Given the description of an element on the screen output the (x, y) to click on. 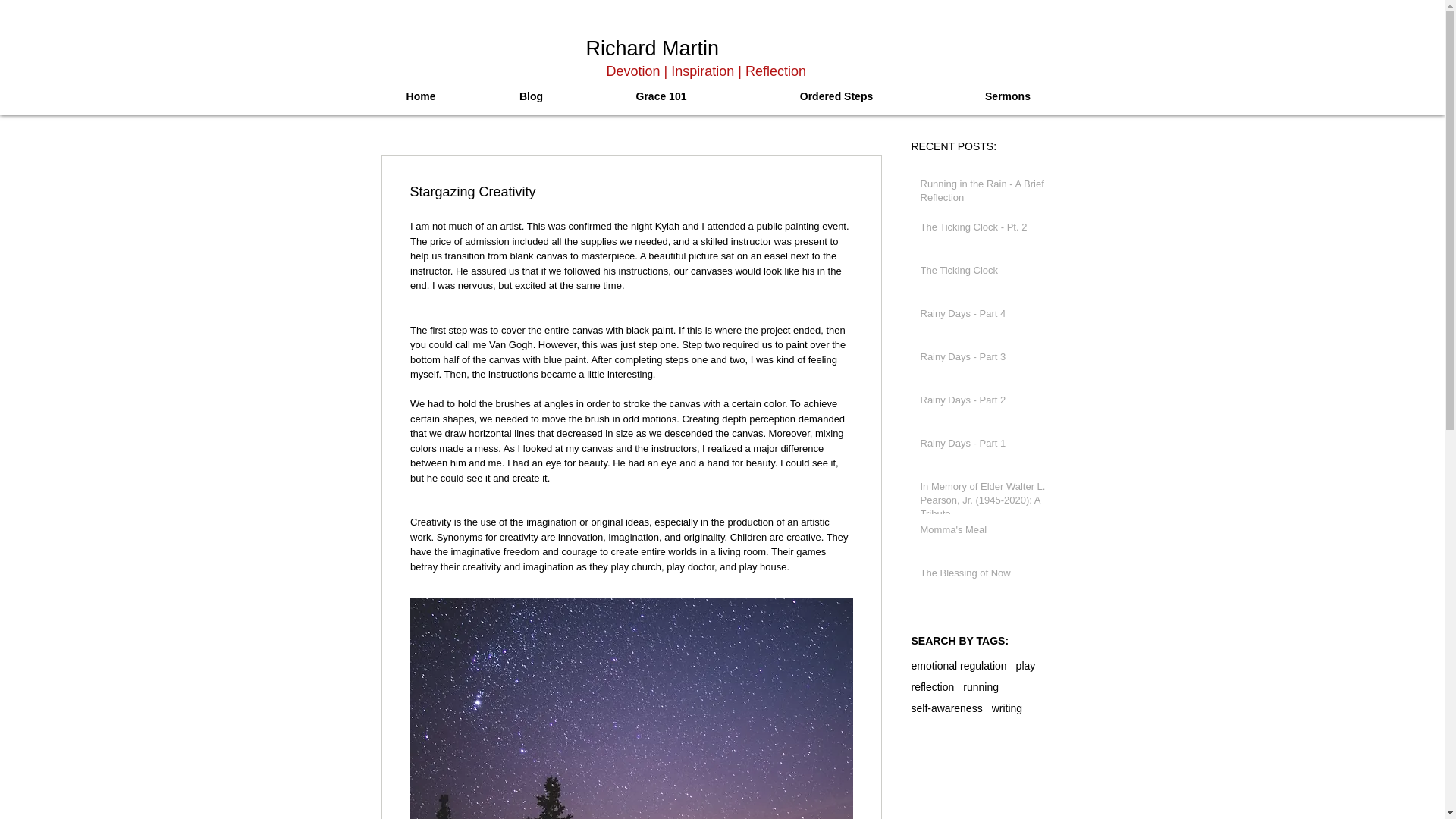
Running in the Rain - A Brief Reflection (989, 193)
The Ticking Clock (989, 273)
writing (1006, 707)
Rainy Days - Part 1 (989, 446)
The Ticking Clock - Pt. 2 (989, 230)
running (980, 686)
Sermons (1007, 96)
Rainy Days - Part 4 (989, 316)
reflection (933, 686)
Home (421, 96)
emotional regulation (959, 665)
self-awareness (946, 707)
Rainy Days - Part 3 (989, 360)
Momma's Meal (989, 532)
The Blessing of Now (989, 576)
